Given the description of an element on the screen output the (x, y) to click on. 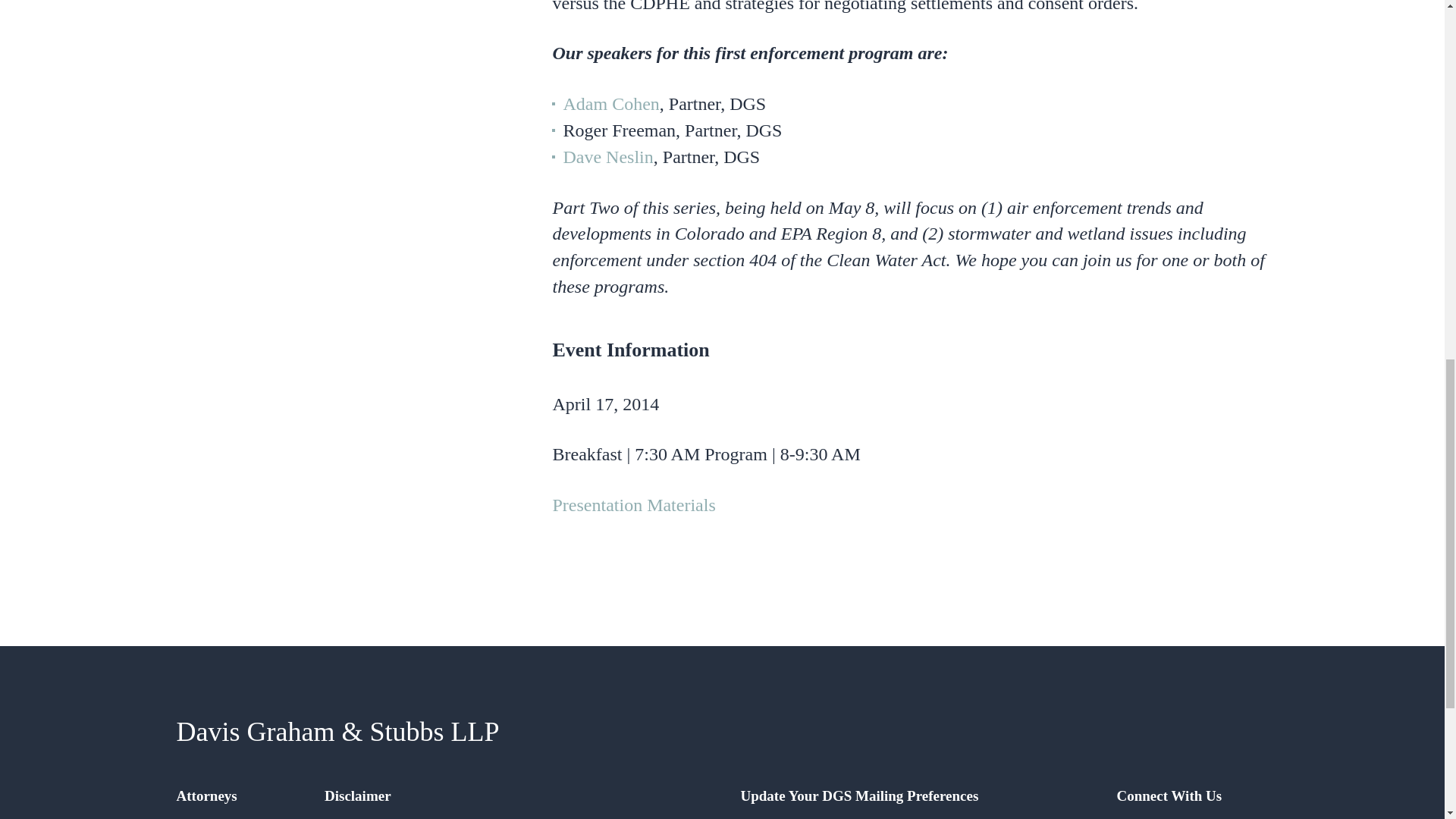
Presentation Materials (632, 505)
Disclaimer (357, 795)
Dave Neslin (607, 157)
Adam Cohen (610, 103)
Attorneys (205, 795)
